Given the description of an element on the screen output the (x, y) to click on. 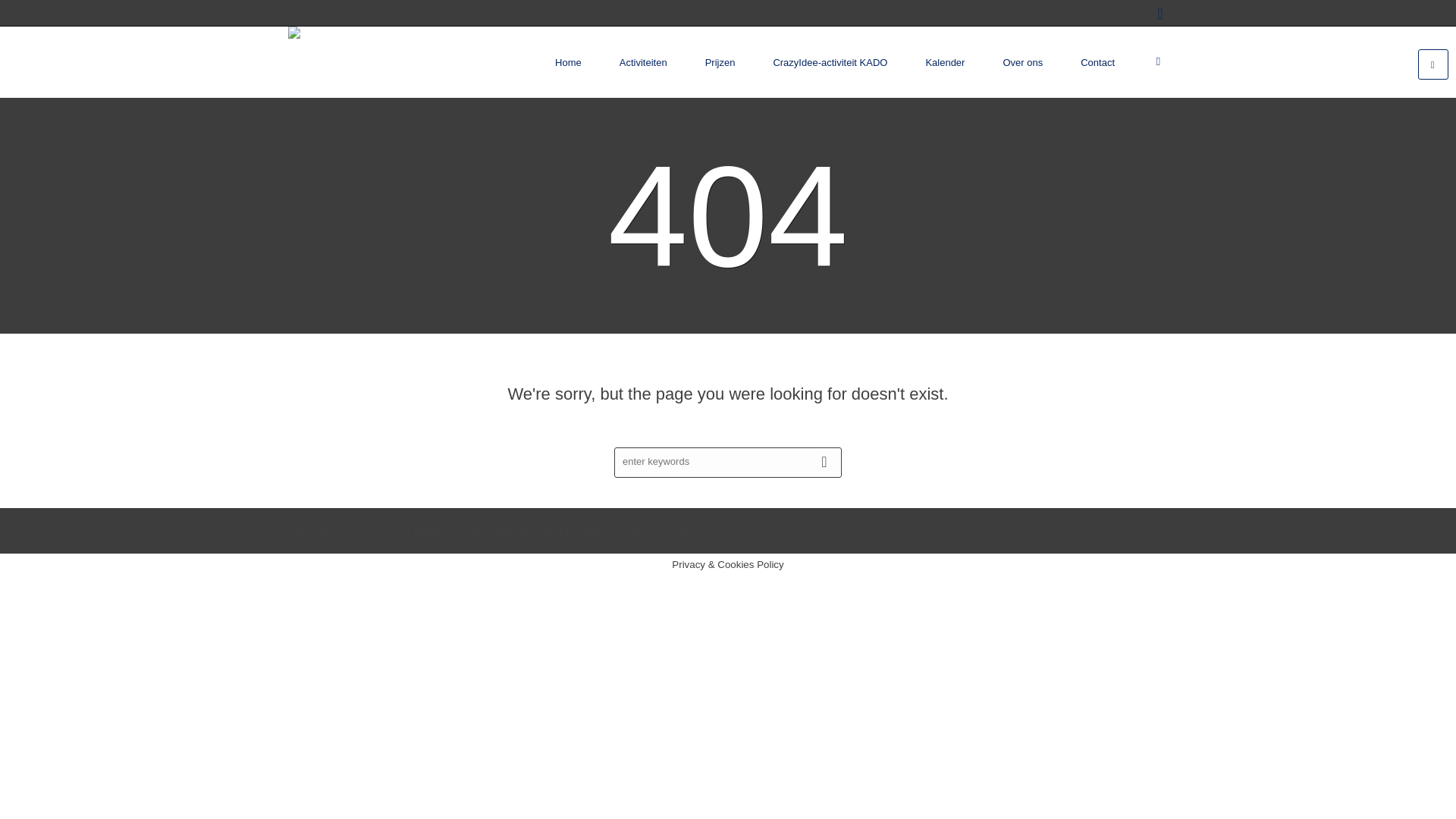
Over ons Element type: text (1022, 62)
Activiteiten Element type: text (643, 62)
Kalender Element type: text (944, 62)
Contact Element type: text (1097, 62)
Home Element type: text (568, 62)
Facebook Element type: hover (1159, 13)
CrazyIdee-activiteit KADO Element type: text (829, 62)
Prijzen Element type: text (720, 62)
